Given the description of an element on the screen output the (x, y) to click on. 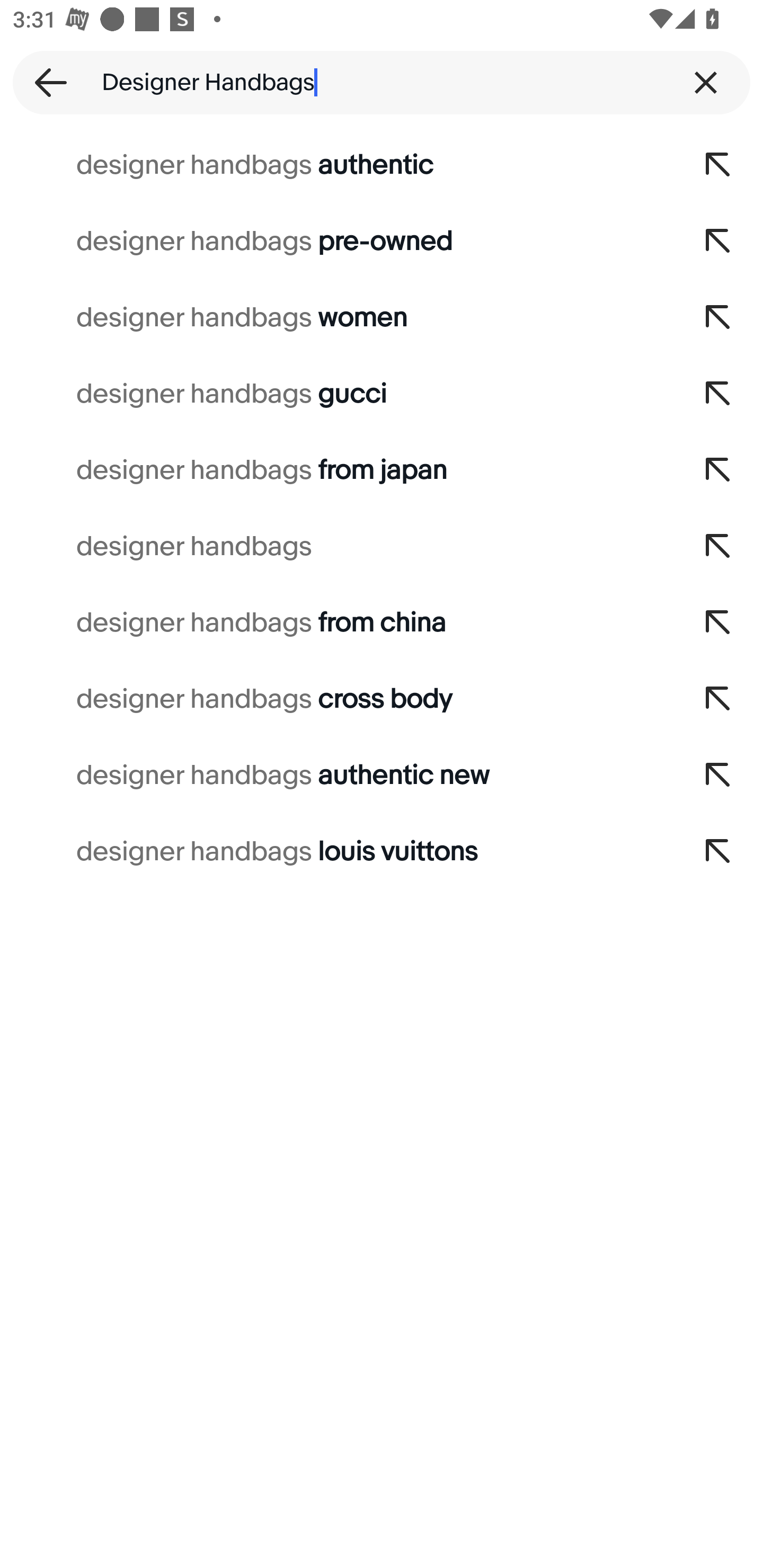
Back (44, 82)
Clear query (705, 82)
Designer Handbags (381, 82)
designer handbags authentic (336, 165)
Add to search query,designer handbags authentic (718, 165)
designer handbags pre-owned (336, 241)
Add to search query,designer handbags pre-owned (718, 241)
designer handbags women (336, 317)
Add to search query,designer handbags women (718, 317)
designer handbags gucci (336, 393)
Add to search query,designer handbags gucci (718, 393)
designer handbags from japan (336, 470)
Add to search query,designer handbags from japan (718, 470)
designer handbags (336, 546)
Add to search query,designer handbags (718, 546)
designer handbags from china (336, 622)
Add to search query,designer handbags from china (718, 622)
designer handbags cross body (336, 698)
Add to search query,designer handbags cross body (718, 698)
designer handbags authentic new (336, 774)
designer handbags louis vuittons (336, 851)
